Given the description of an element on the screen output the (x, y) to click on. 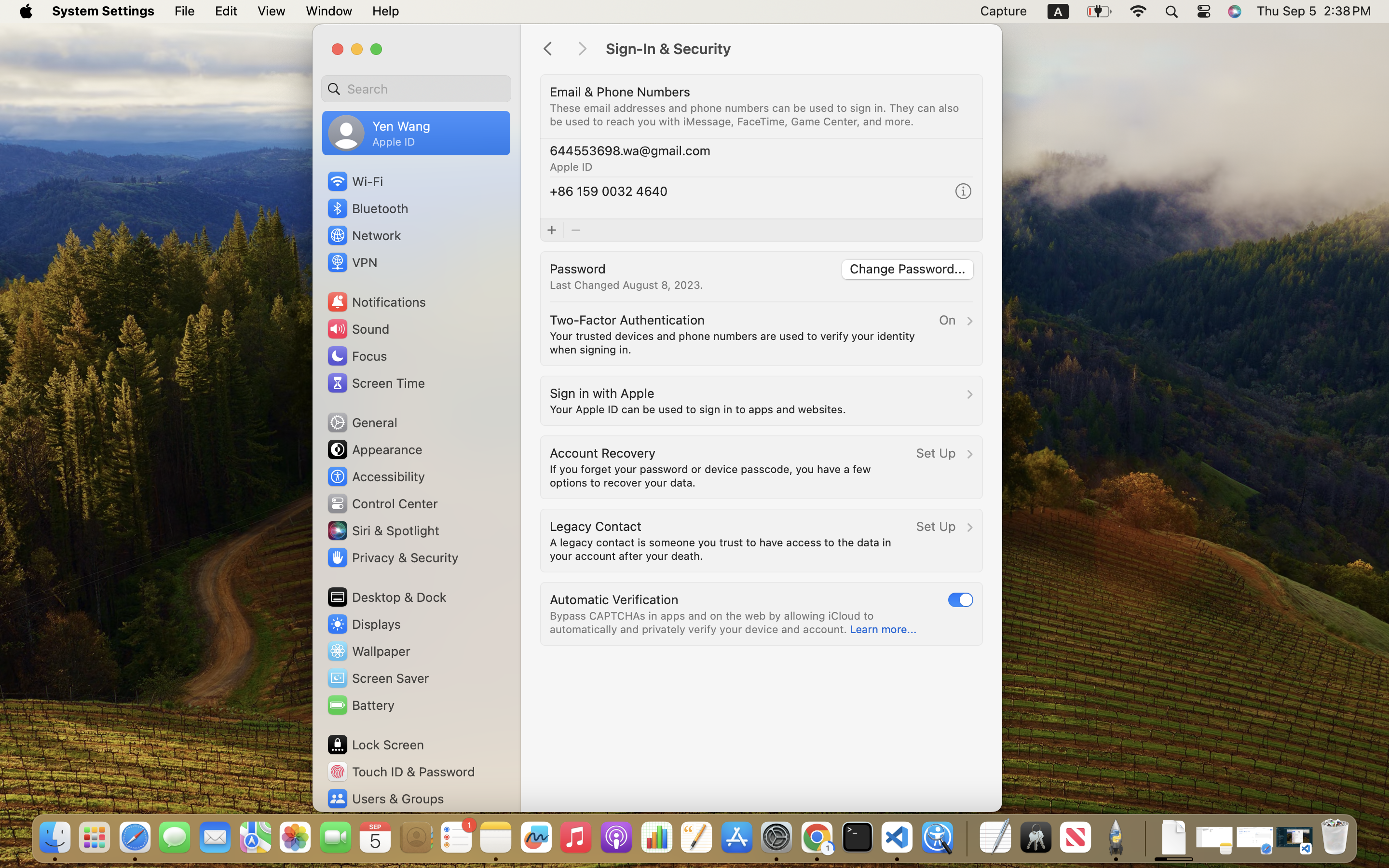
Yen Wang, Apple ID Element type: AXStaticText (378, 132)
Sound Element type: AXStaticText (357, 328)
Notifications Element type: AXStaticText (376, 301)
These email addresses and phone numbers can be used to sign in. They can also be used to reach you with iMessage, FaceTime, Game Center, and more. Element type: AXStaticText (755, 114)
Lock Screen Element type: AXStaticText (375, 744)
